Given the description of an element on the screen output the (x, y) to click on. 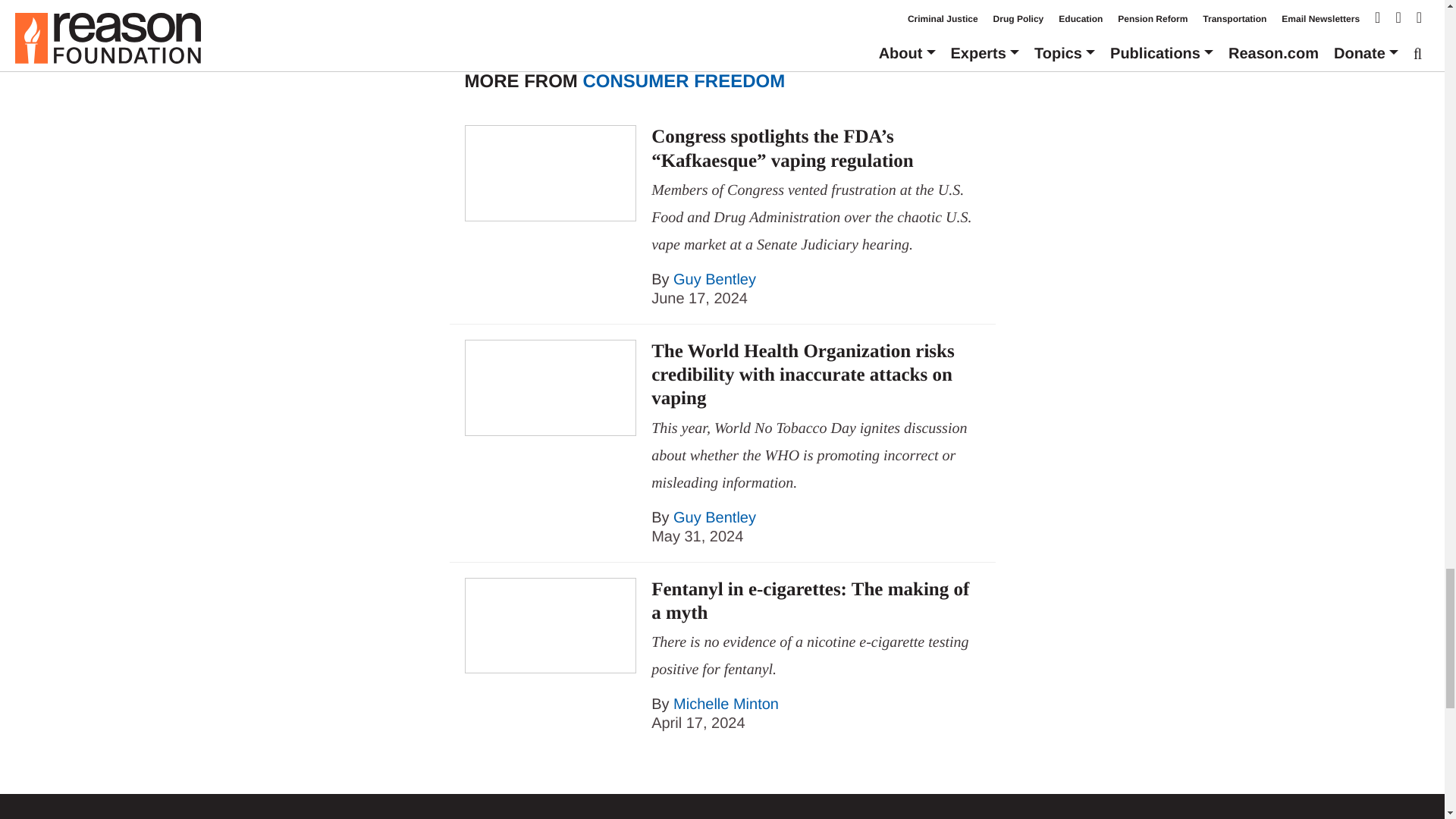
Posts by Guy Bentley (713, 517)
Posts by Guy Bentley (713, 279)
Posts by Michelle Minton (725, 704)
